Given the description of an element on the screen output the (x, y) to click on. 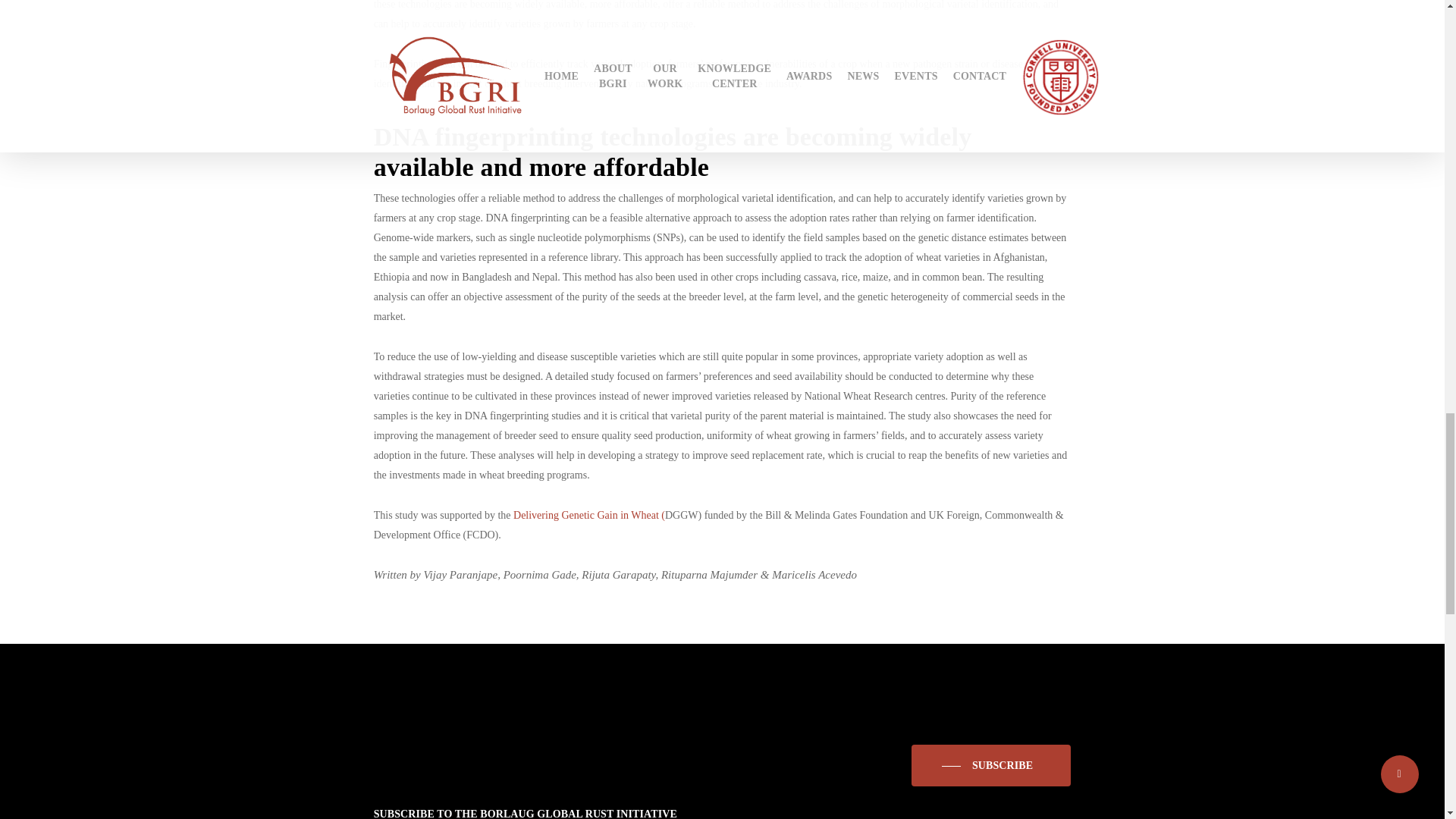
SUBSCRIBE (991, 765)
